Given the description of an element on the screen output the (x, y) to click on. 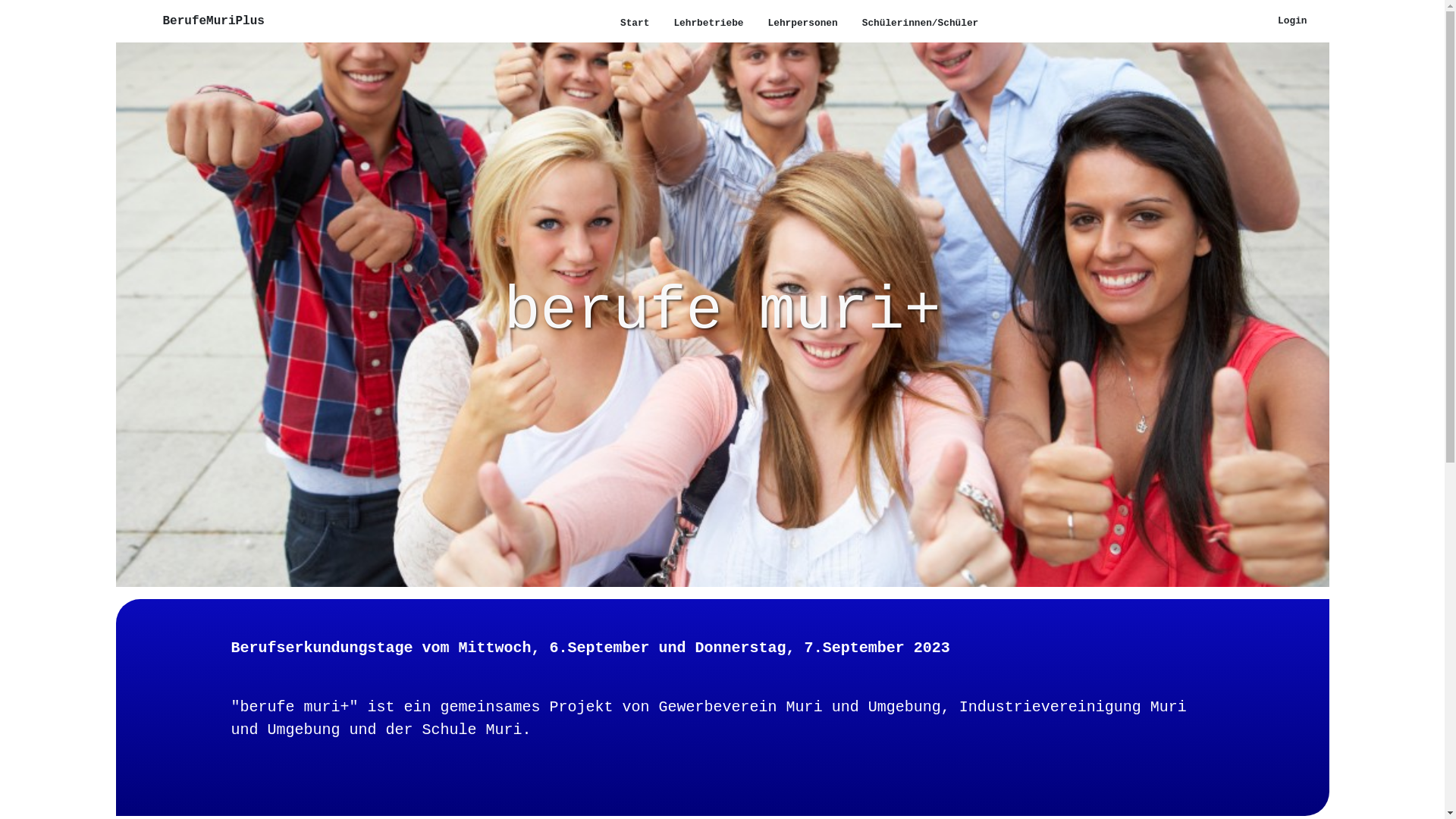
Login Element type: text (1291, 20)
Lehrpersonen Element type: text (803, 22)
Lehrbetriebe Element type: text (708, 22)
BerufeMuriPlus Element type: text (213, 21)
Start Element type: text (634, 22)
